Given the description of an element on the screen output the (x, y) to click on. 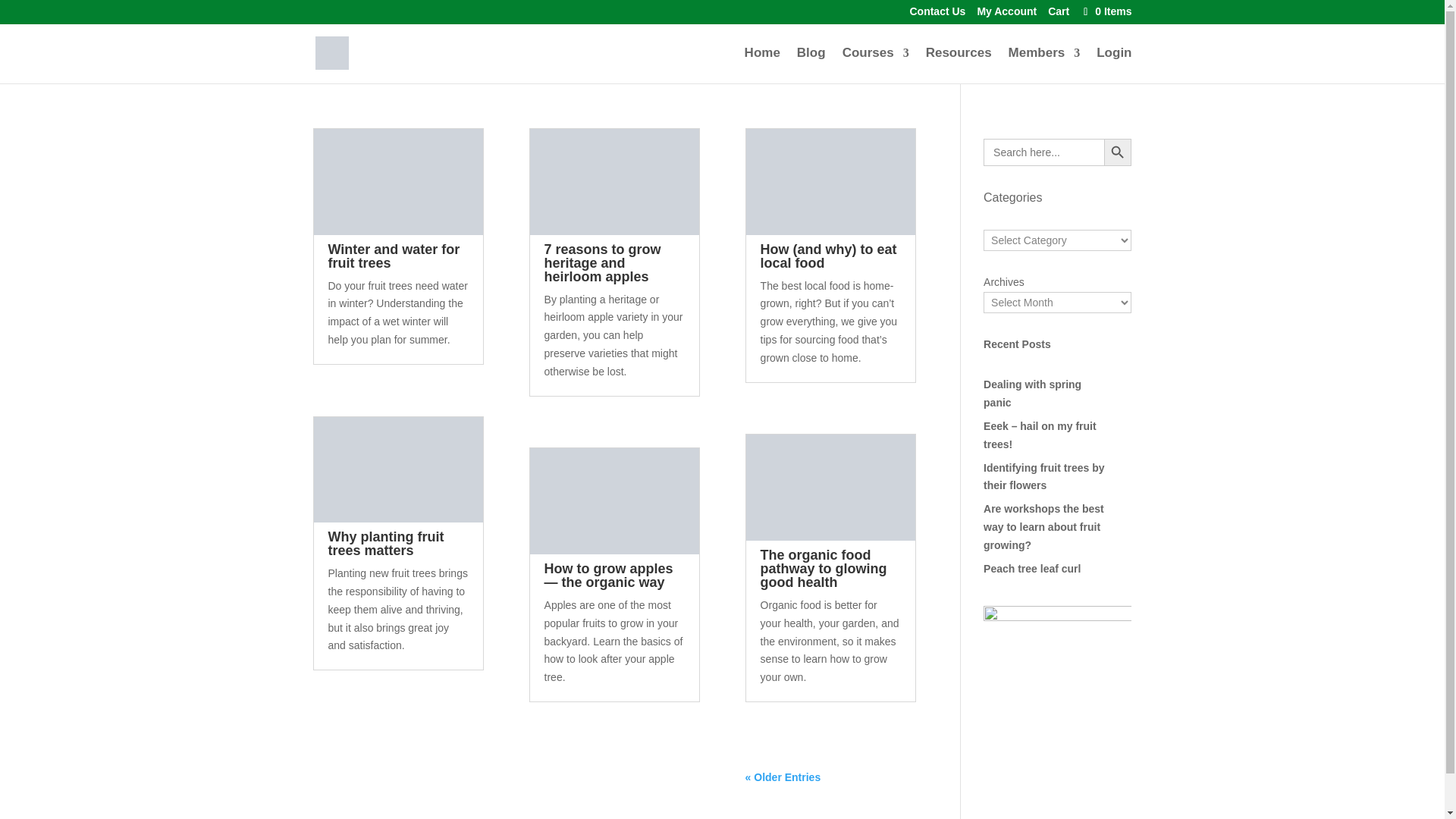
Courses (875, 65)
Contact Us (936, 15)
Resources (958, 65)
Search Button (1117, 152)
0 Items (1105, 10)
Dealing with spring panic (1032, 393)
My Account (1006, 15)
Cart (1058, 15)
Home (762, 65)
Identifying fruit trees by their flowers (1043, 476)
